Given the description of an element on the screen output the (x, y) to click on. 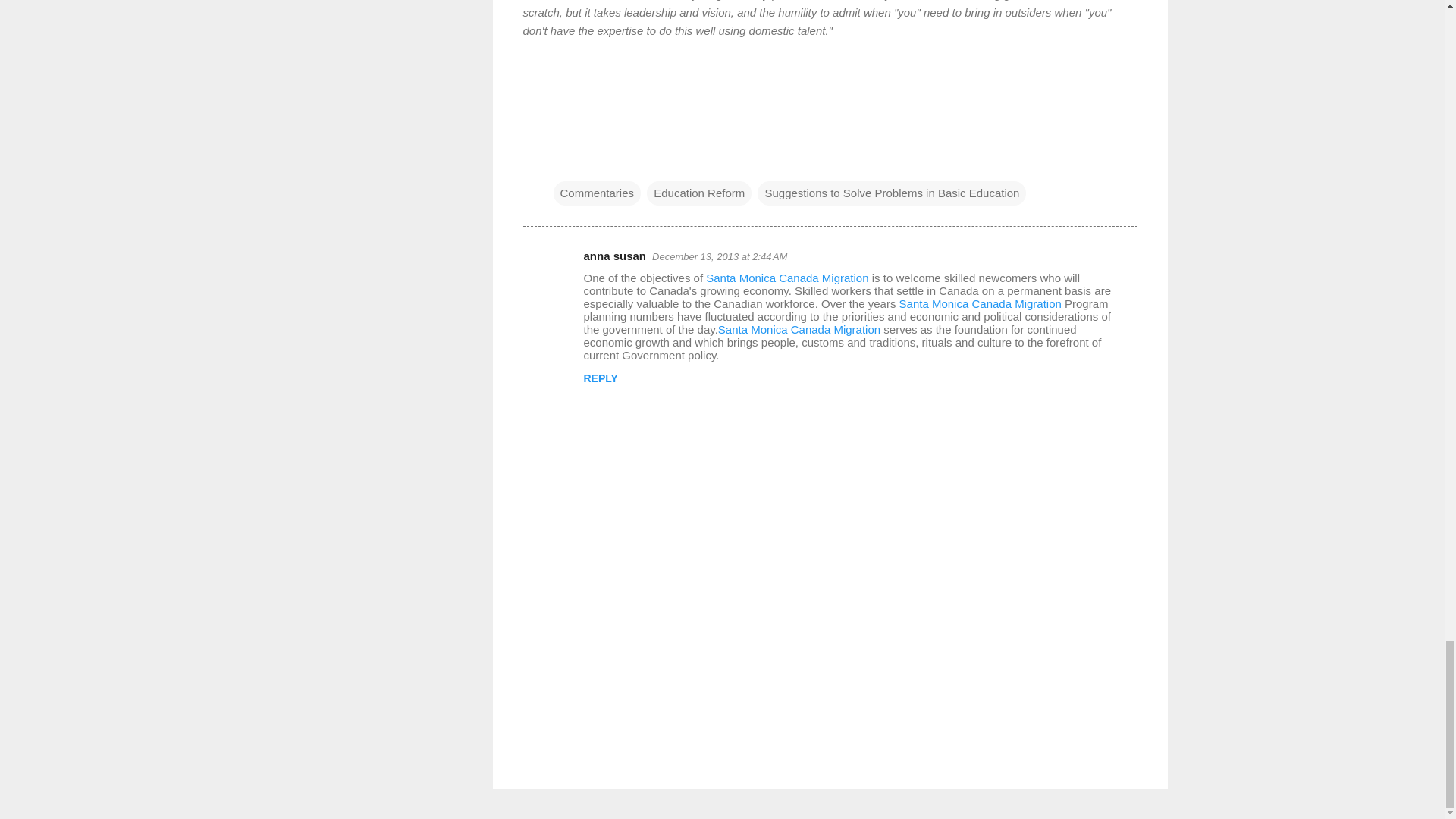
Santa Monica Canada Migration (980, 303)
Education Reform (698, 192)
Santa Monica Canada Migration (786, 277)
REPLY (600, 378)
Santa Monica Canada Migration (798, 328)
Suggestions to Solve Problems in Basic Education (891, 192)
Commentaries (597, 192)
